Given the description of an element on the screen output the (x, y) to click on. 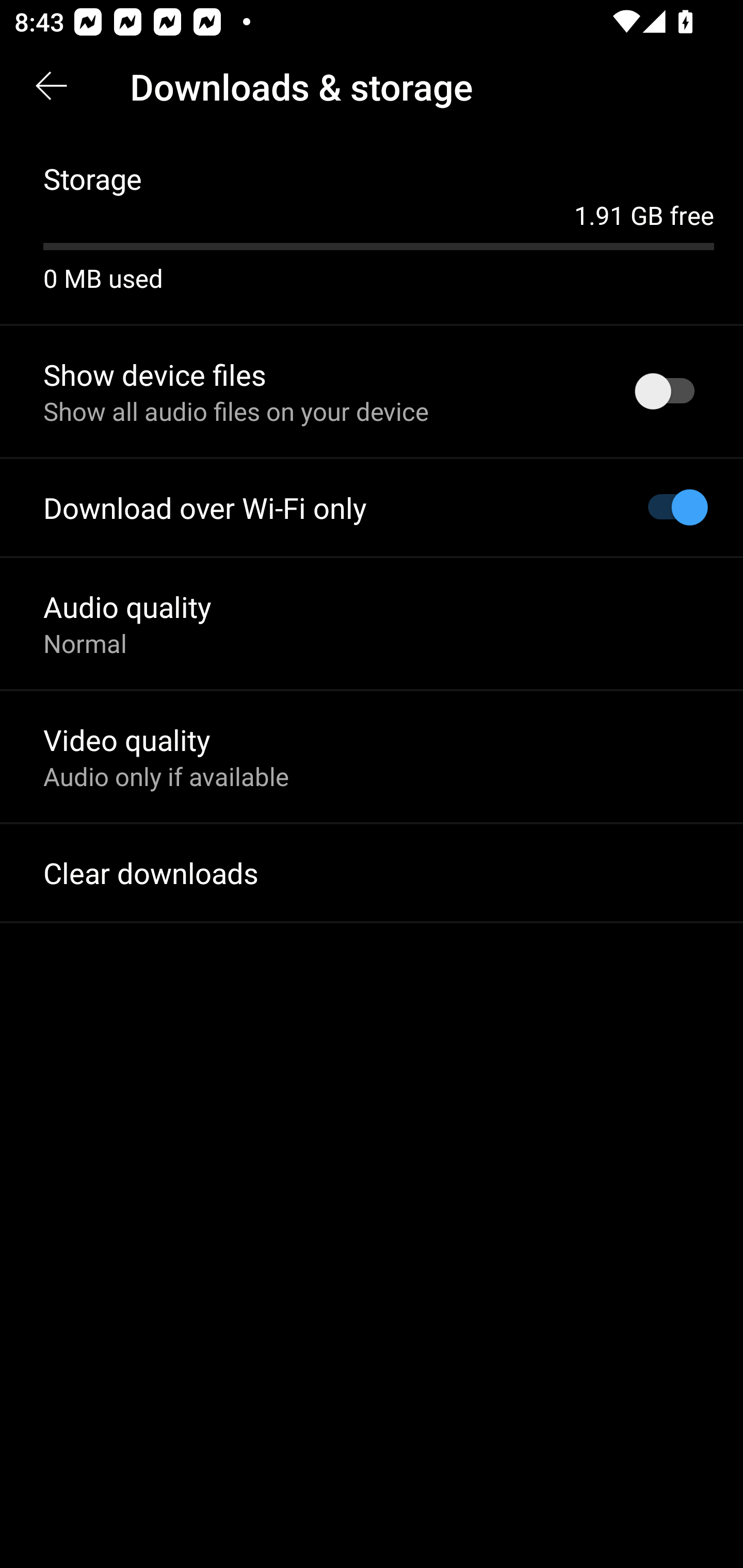
Back (50, 86)
Download over Wi-Fi only (371, 507)
Audio quality Normal (371, 623)
Video quality Audio only if available (371, 756)
Clear downloads (371, 872)
